Given the description of an element on the screen output the (x, y) to click on. 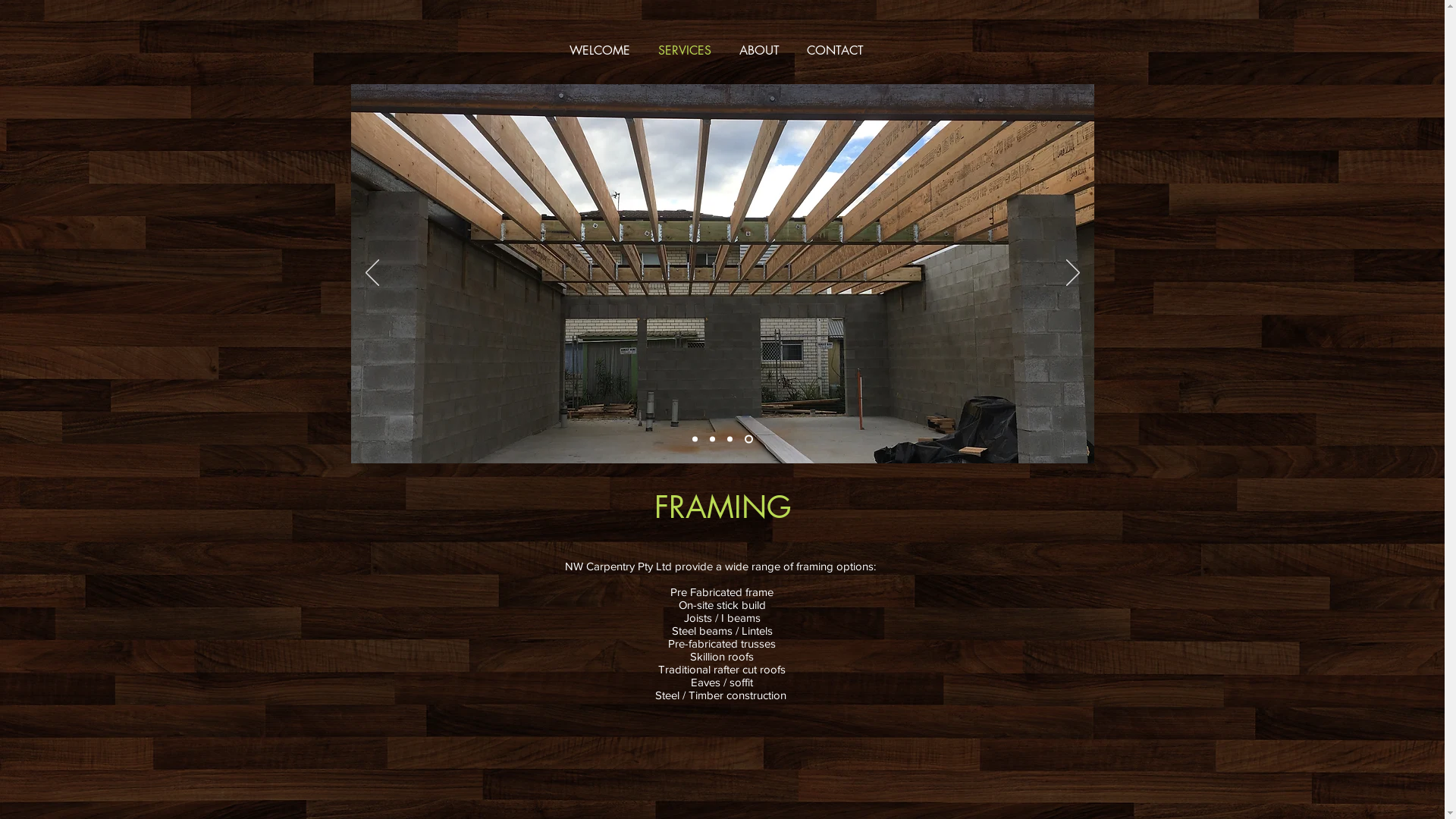
WELCOME Element type: text (599, 50)
SERVICES Element type: text (684, 50)
CONTACT Element type: text (835, 50)
ABOUT Element type: text (758, 50)
